Given the description of an element on the screen output the (x, y) to click on. 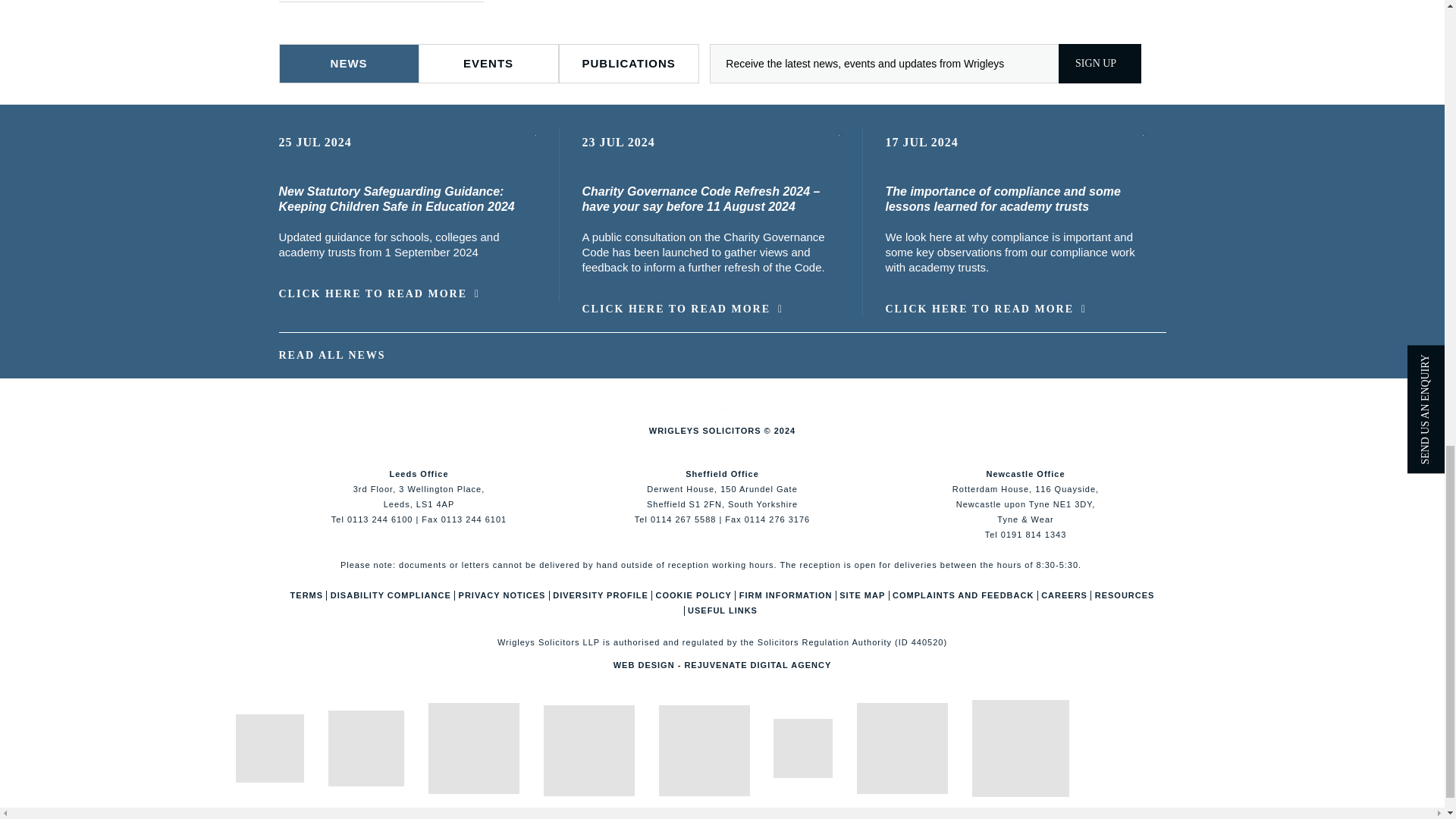
Web Design Leeds - Rejuvenate Productions (721, 664)
Top 25 Law Firms 2023 (802, 748)
Disability Confident Logo (1020, 748)
Living Wage Logo (902, 747)
Top Ranked Chambers UK 2023- Leading Firm (703, 750)
Chambers High Net Worth (588, 750)
Lexcel Practice Management Standard. Law Society Accredited (473, 747)
